Given the description of an element on the screen output the (x, y) to click on. 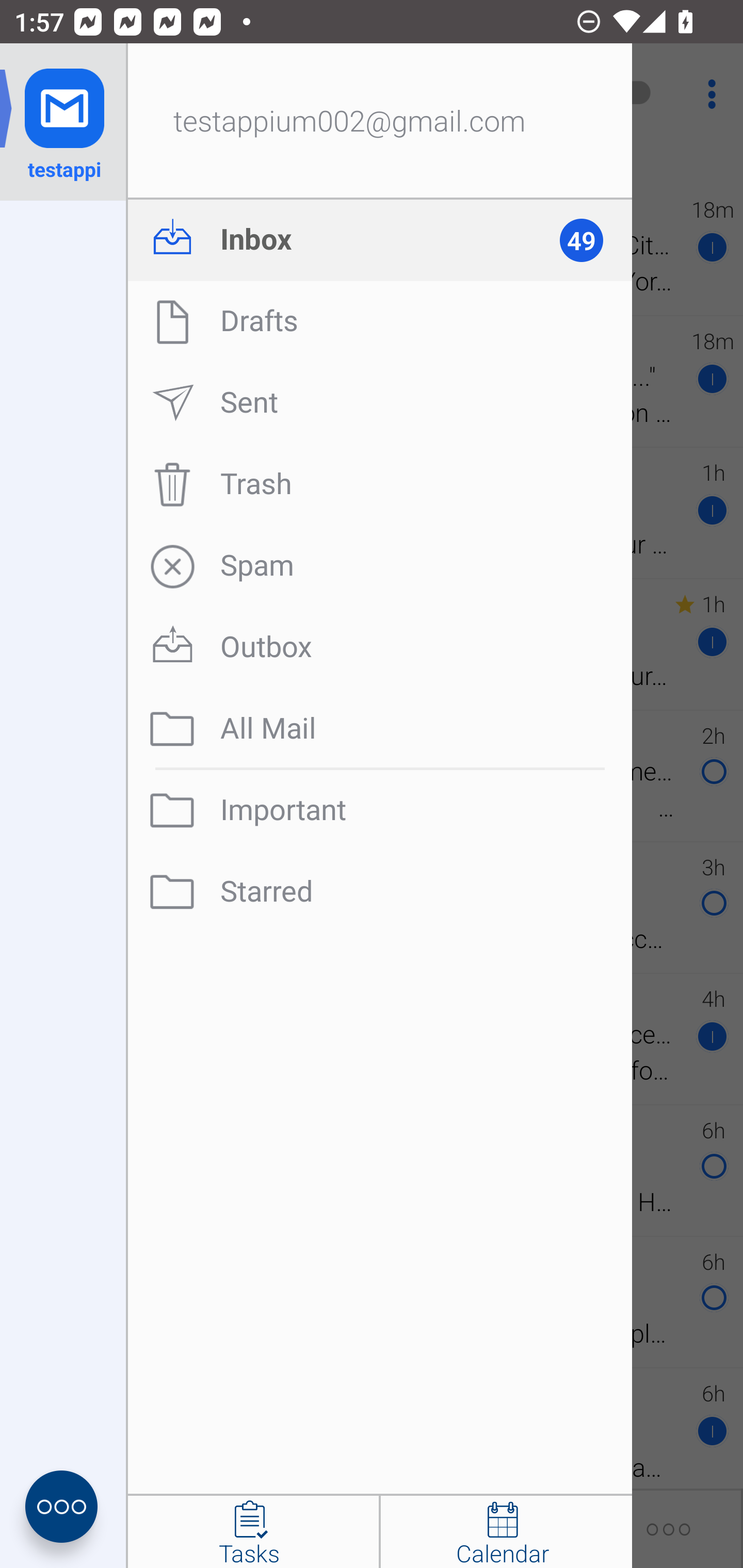
Navigate up (81, 93)
testappium002@gmail.com (379, 121)
Updated 1:57 PM (371, 164)
Inbox 49 (379, 239)
49 (590, 239)
Drafts (379, 321)
Sent (379, 402)
Trash (379, 484)
Spam (379, 565)
Outbox (379, 647)
All Mail (379, 728)
Important (379, 810)
Starred (379, 891)
